Given the description of an element on the screen output the (x, y) to click on. 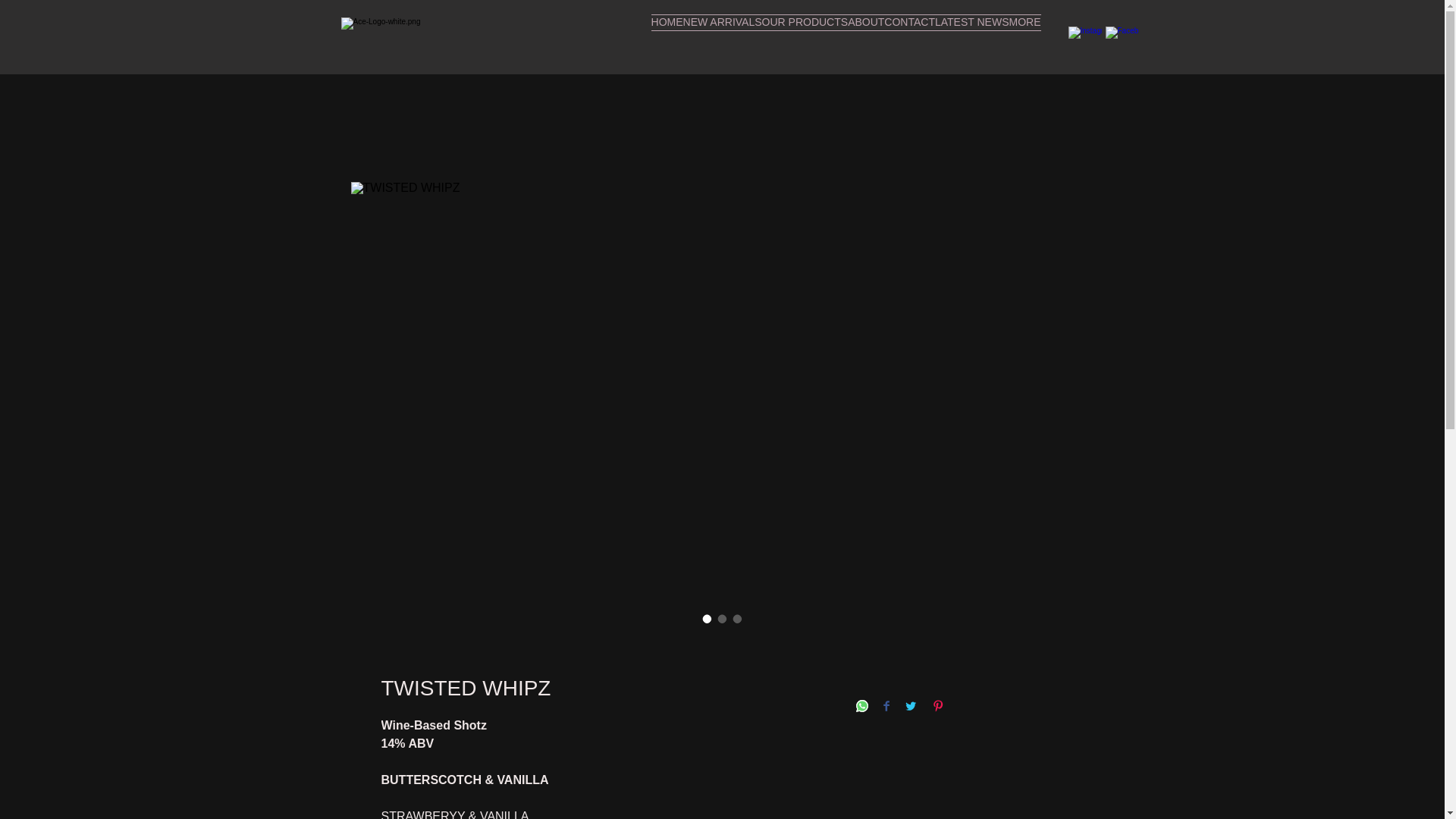
ABOUT (865, 40)
LATEST NEWS (971, 40)
NEW ARRIVALS (721, 40)
HOME (666, 40)
CONTACT (908, 40)
OUR PRODUCTS (804, 40)
